Given the description of an element on the screen output the (x, y) to click on. 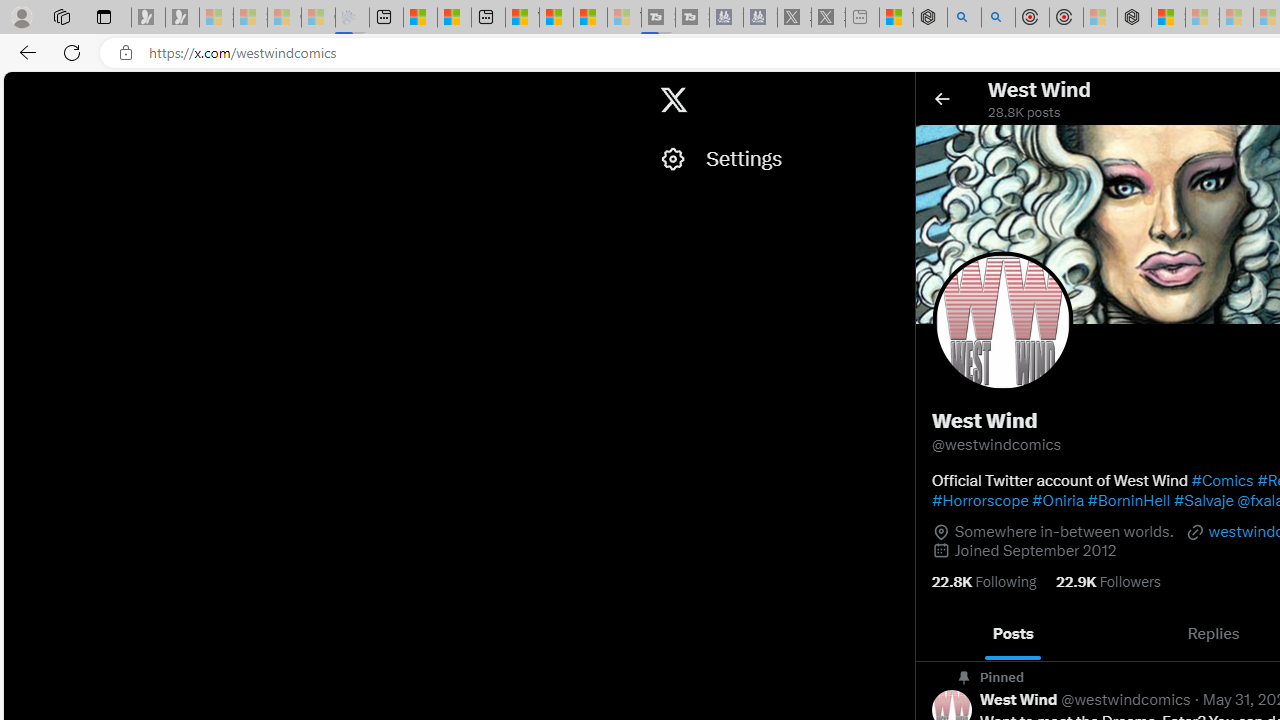
Newsletter Sign Up - Sleeping (182, 17)
West Wind (1019, 700)
Skip to home timeline (21, 90)
22.8K Following (983, 582)
poe ++ standard - Search (998, 17)
22.9K Followers (1108, 582)
